Given the description of an element on the screen output the (x, y) to click on. 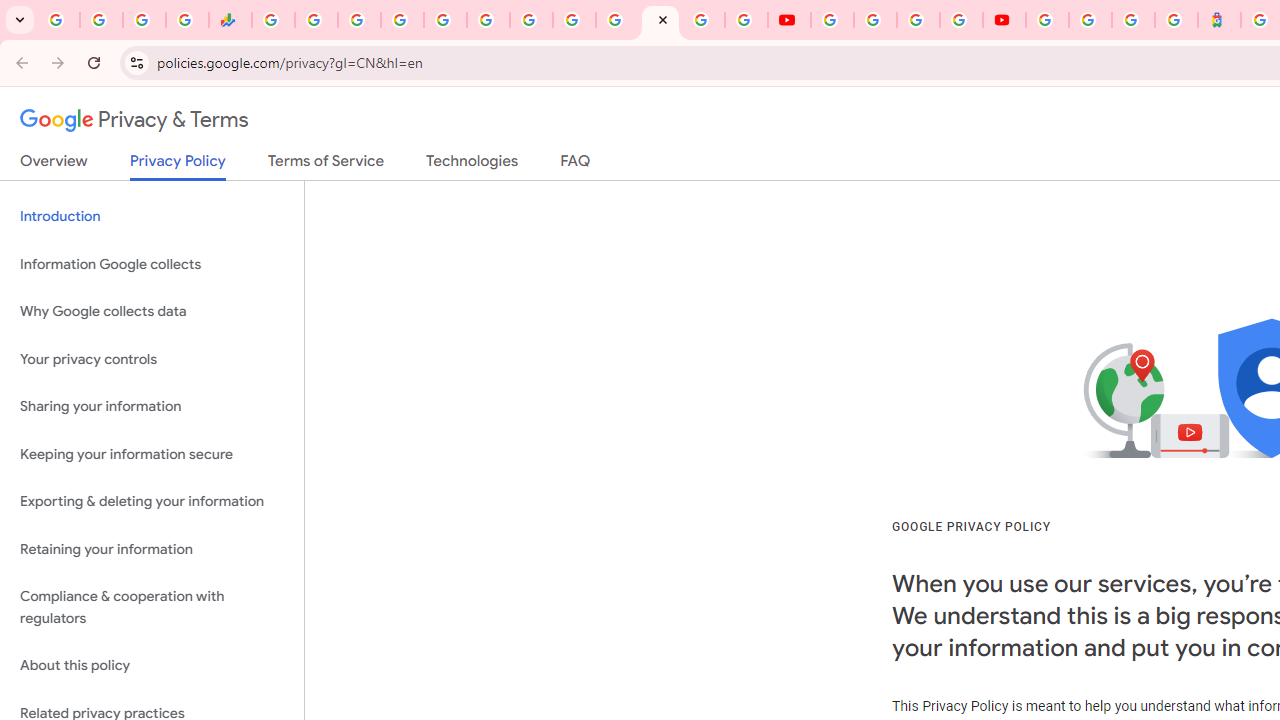
Sign in - Google Accounts (402, 20)
Keeping your information secure (152, 453)
Google Workspace Admin Community (58, 20)
Information Google collects (152, 263)
Create your Google Account (918, 20)
Exporting & deleting your information (152, 502)
YouTube (574, 20)
